Given the description of an element on the screen output the (x, y) to click on. 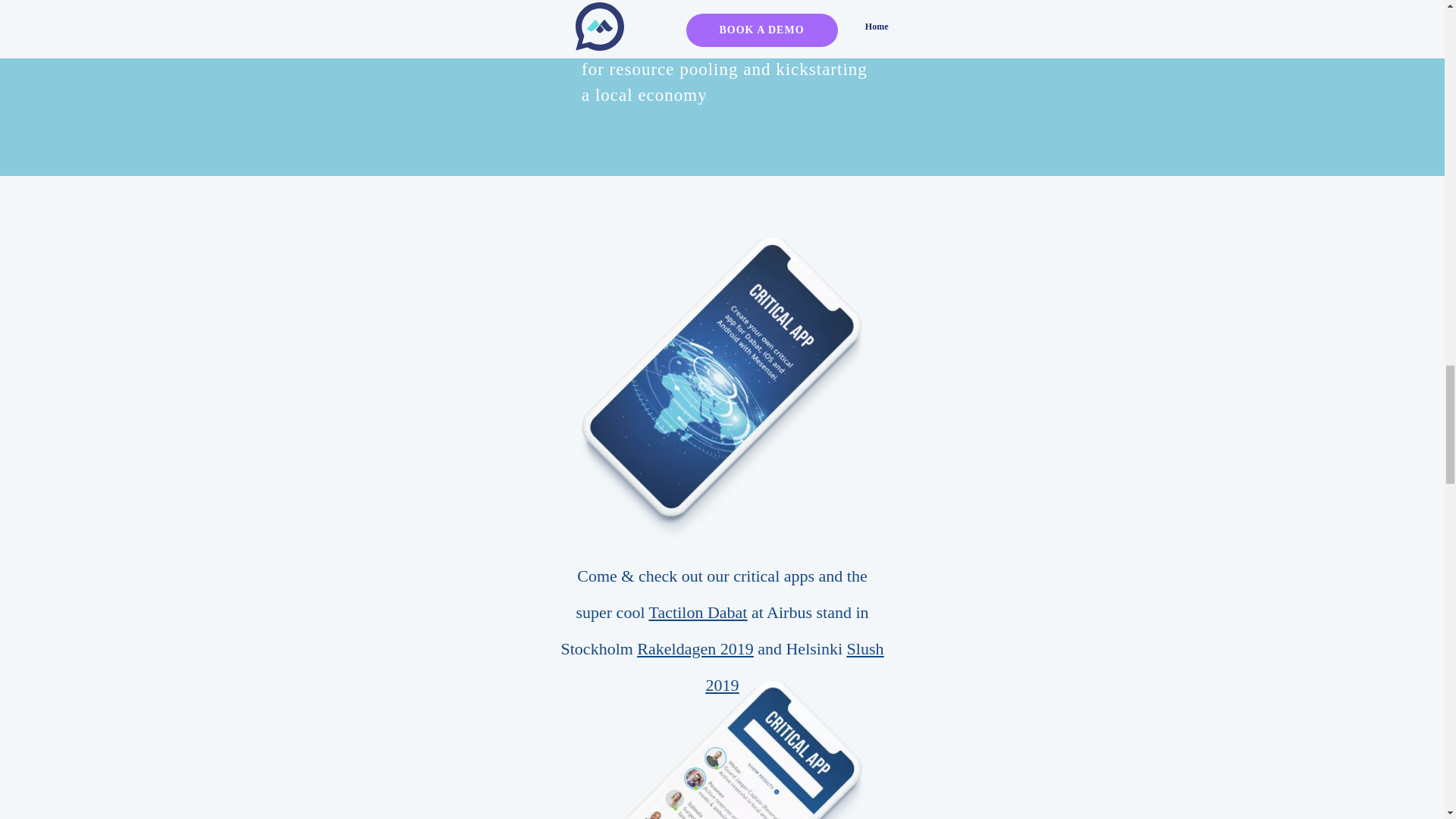
Tactilon Dabat (698, 611)
Rakeldagen 2019 (694, 648)
Slush 2019 (793, 666)
